Given the description of an element on the screen output the (x, y) to click on. 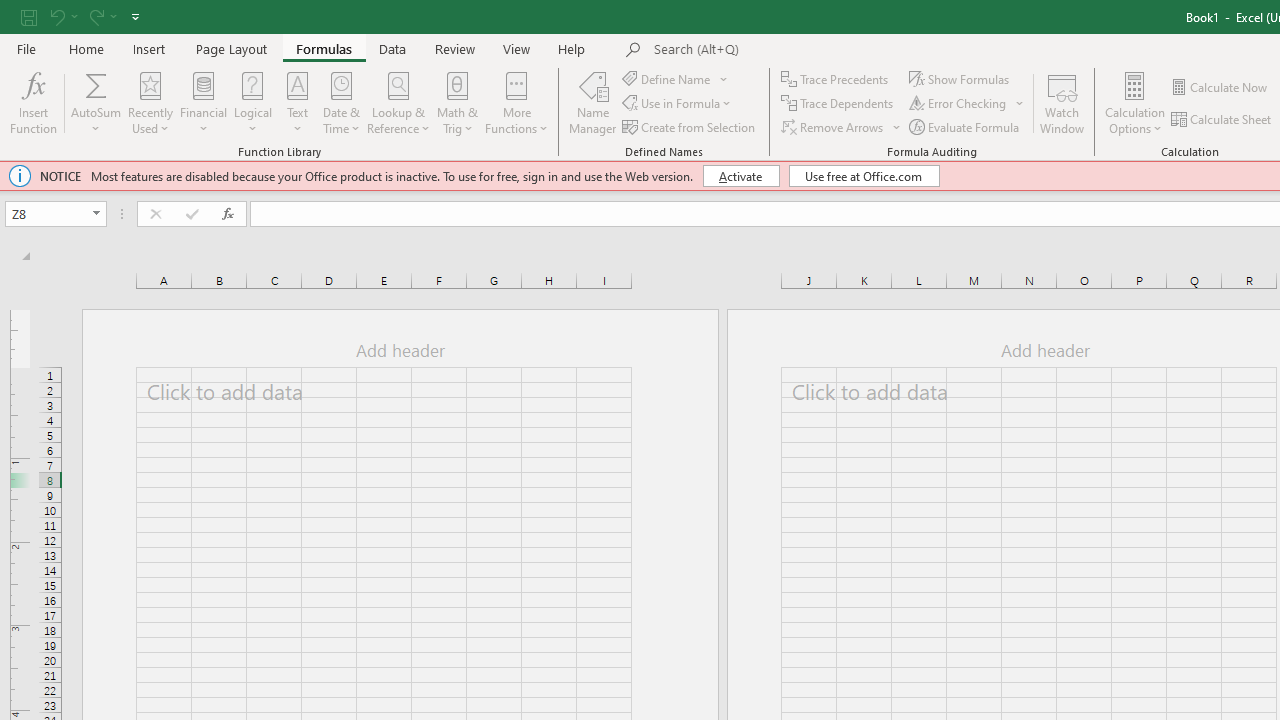
Financial (203, 102)
Error Checking... (967, 103)
Date & Time (342, 102)
Use free at Office.com (863, 175)
Trace Precedents (836, 78)
AutoSum (96, 102)
